Given the description of an element on the screen output the (x, y) to click on. 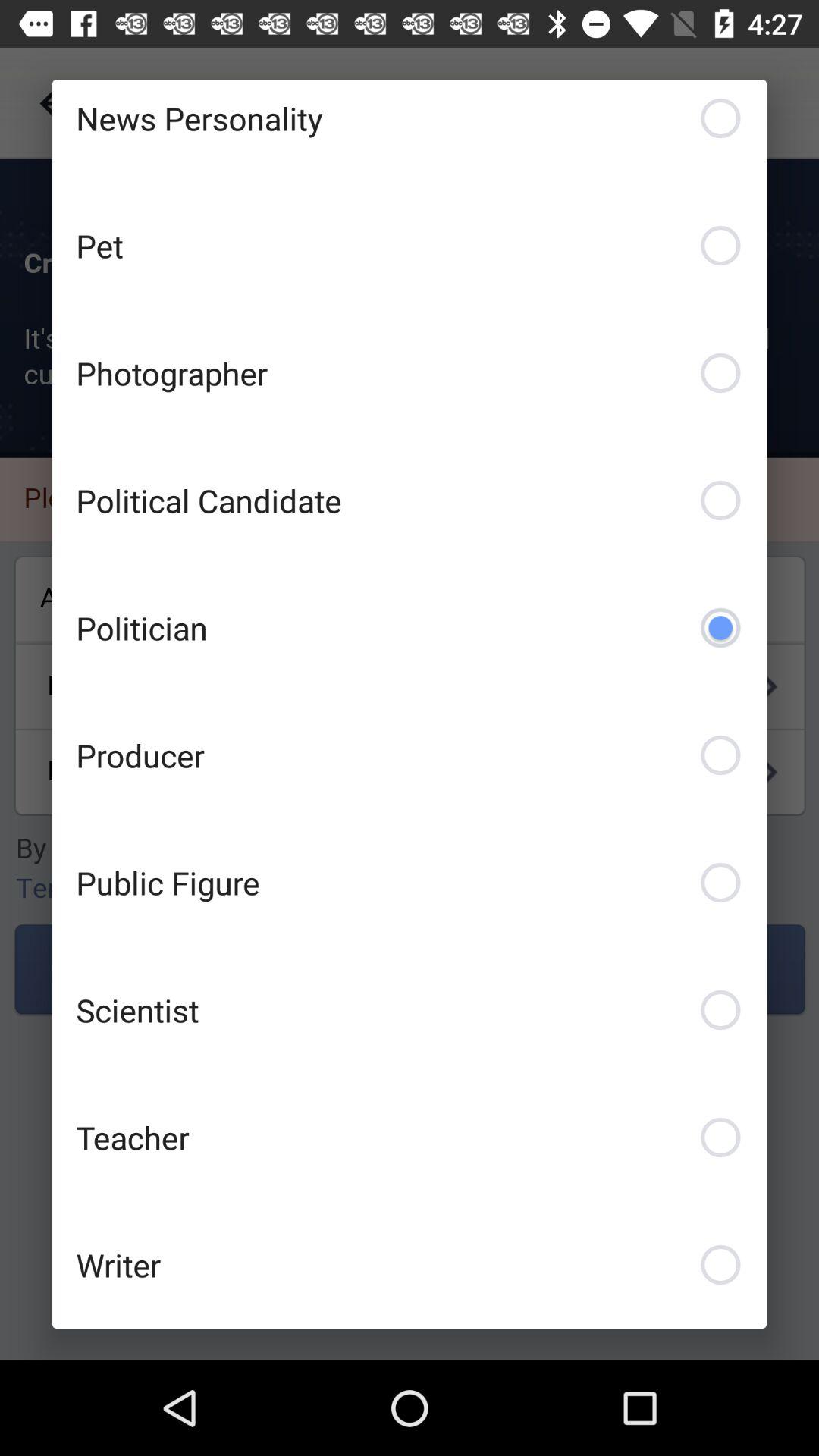
swipe to writer (409, 1264)
